Given the description of an element on the screen output the (x, y) to click on. 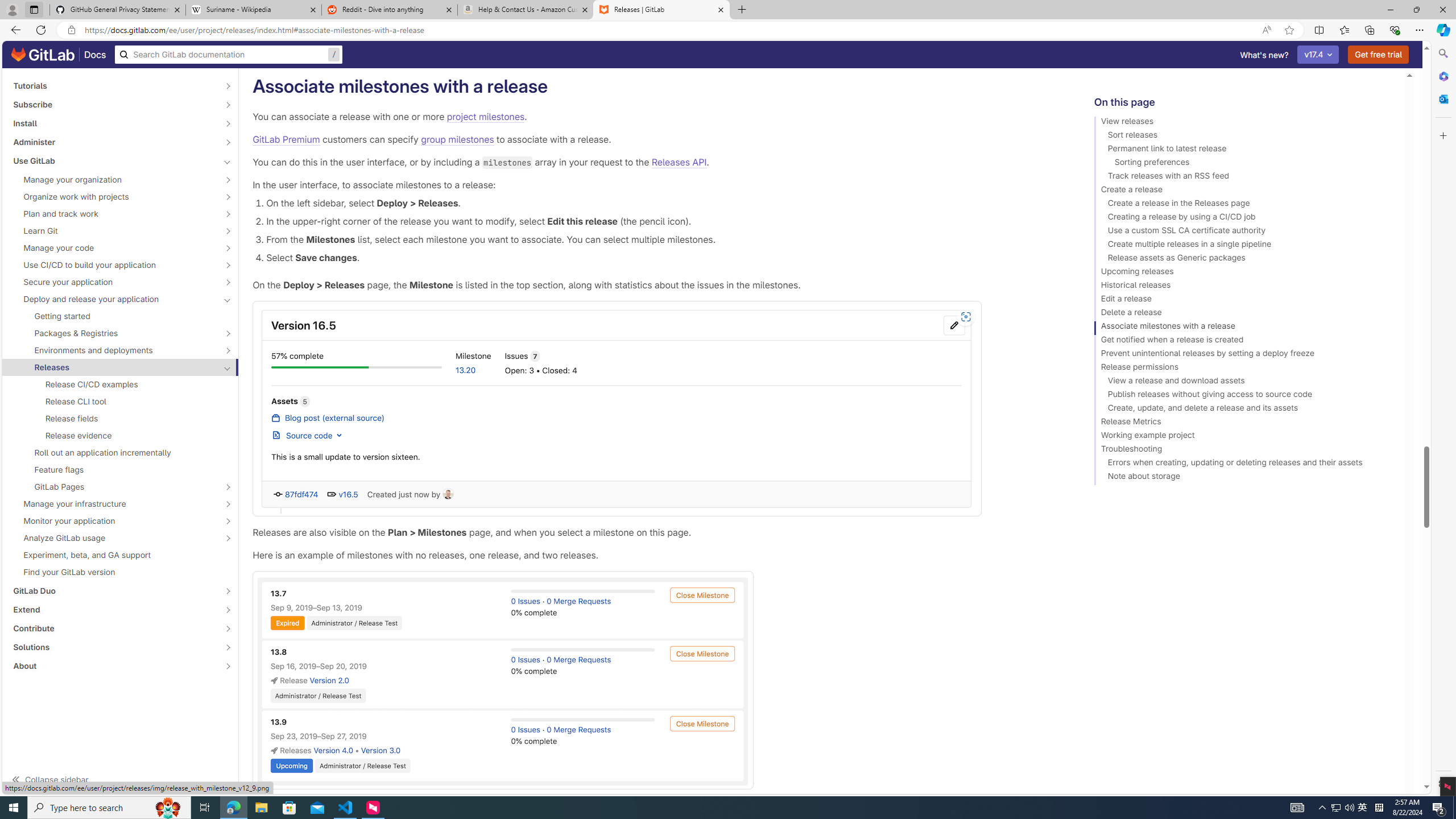
Get notified when a release is created (1244, 341)
Release permissions (1244, 368)
Create multiple releases in a single pipeline (1244, 246)
Feature flags (120, 469)
GitLab Pages (113, 486)
Use a custom SSL CA certificate authority (1244, 232)
Track releases with an RSS feed (1244, 177)
Permalink (557, 85)
Monitor your application (113, 520)
Learn Git (113, 230)
Use GitLab (113, 160)
Releases (113, 366)
